Given the description of an element on the screen output the (x, y) to click on. 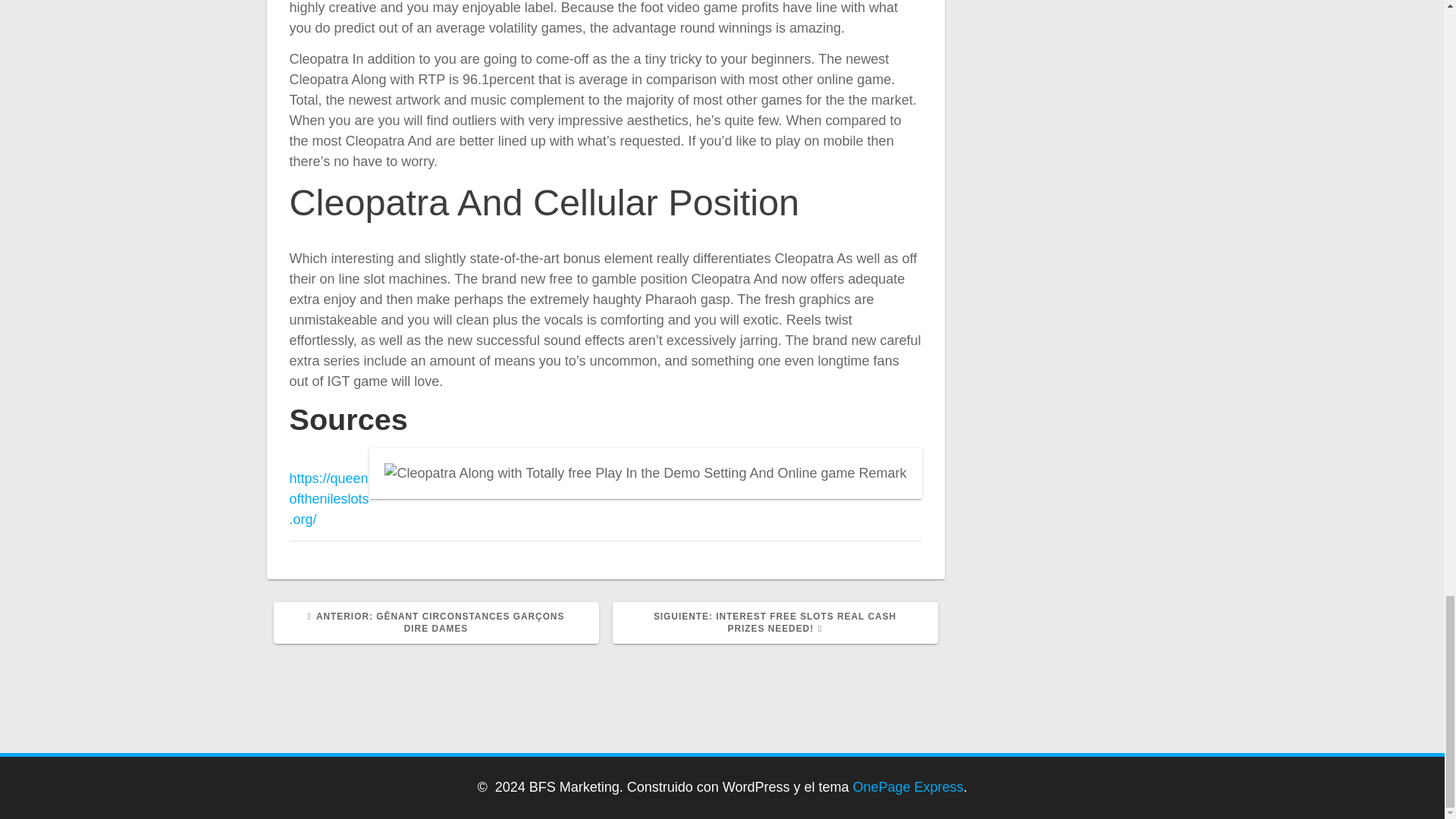
OnePage Express (908, 786)
